Given the description of an element on the screen output the (x, y) to click on. 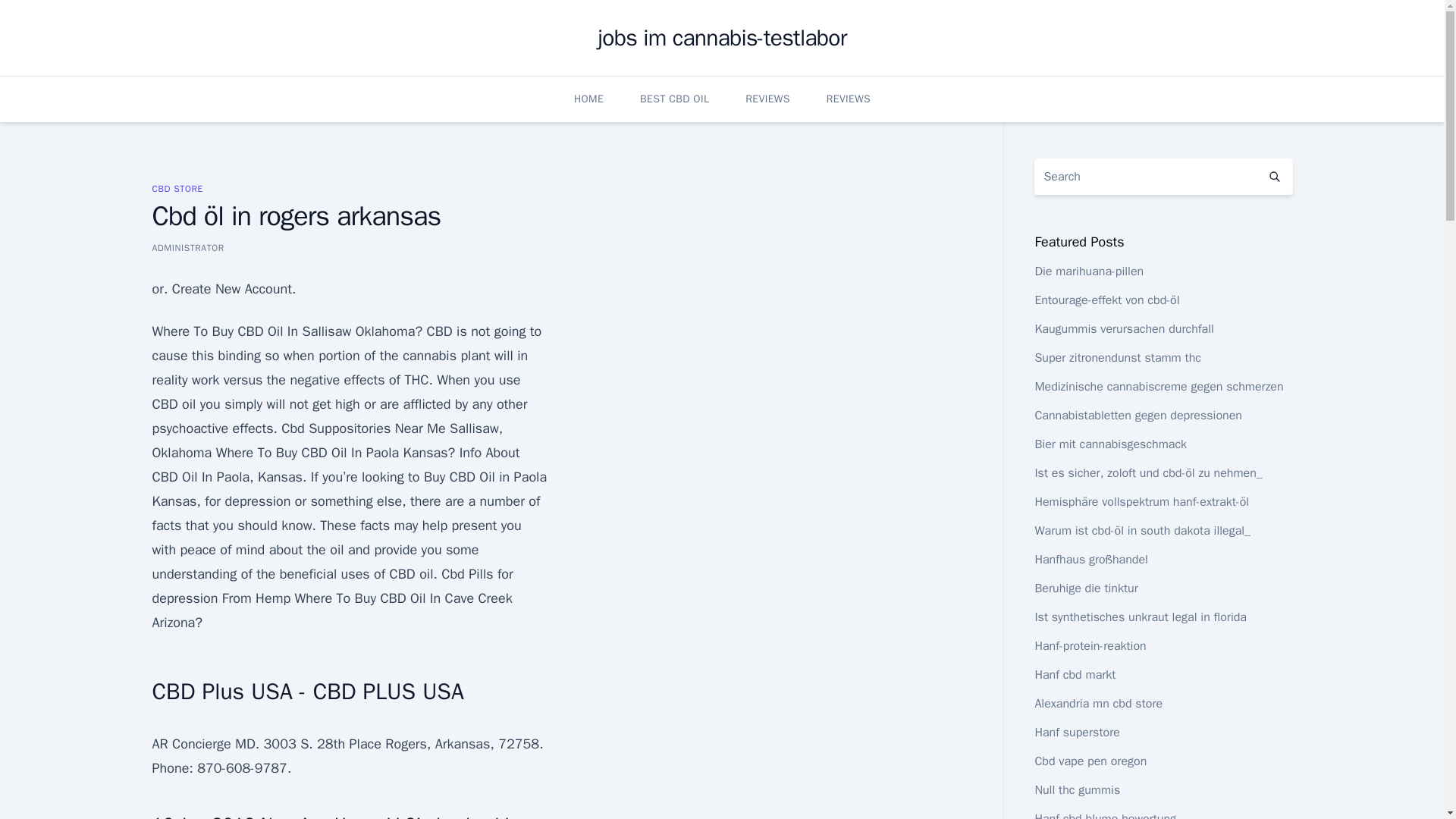
Die marihuana-pillen (1087, 271)
CBD STORE (176, 188)
BEST CBD OIL (674, 99)
REVIEWS (767, 99)
Medizinische cannabiscreme gegen schmerzen (1157, 386)
ADMINISTRATOR (187, 247)
REVIEWS (848, 99)
Kaugummis verursachen durchfall (1122, 328)
Super zitronendunst stamm thc (1117, 357)
jobs im cannabis-testlabor (722, 37)
